Given the description of an element on the screen output the (x, y) to click on. 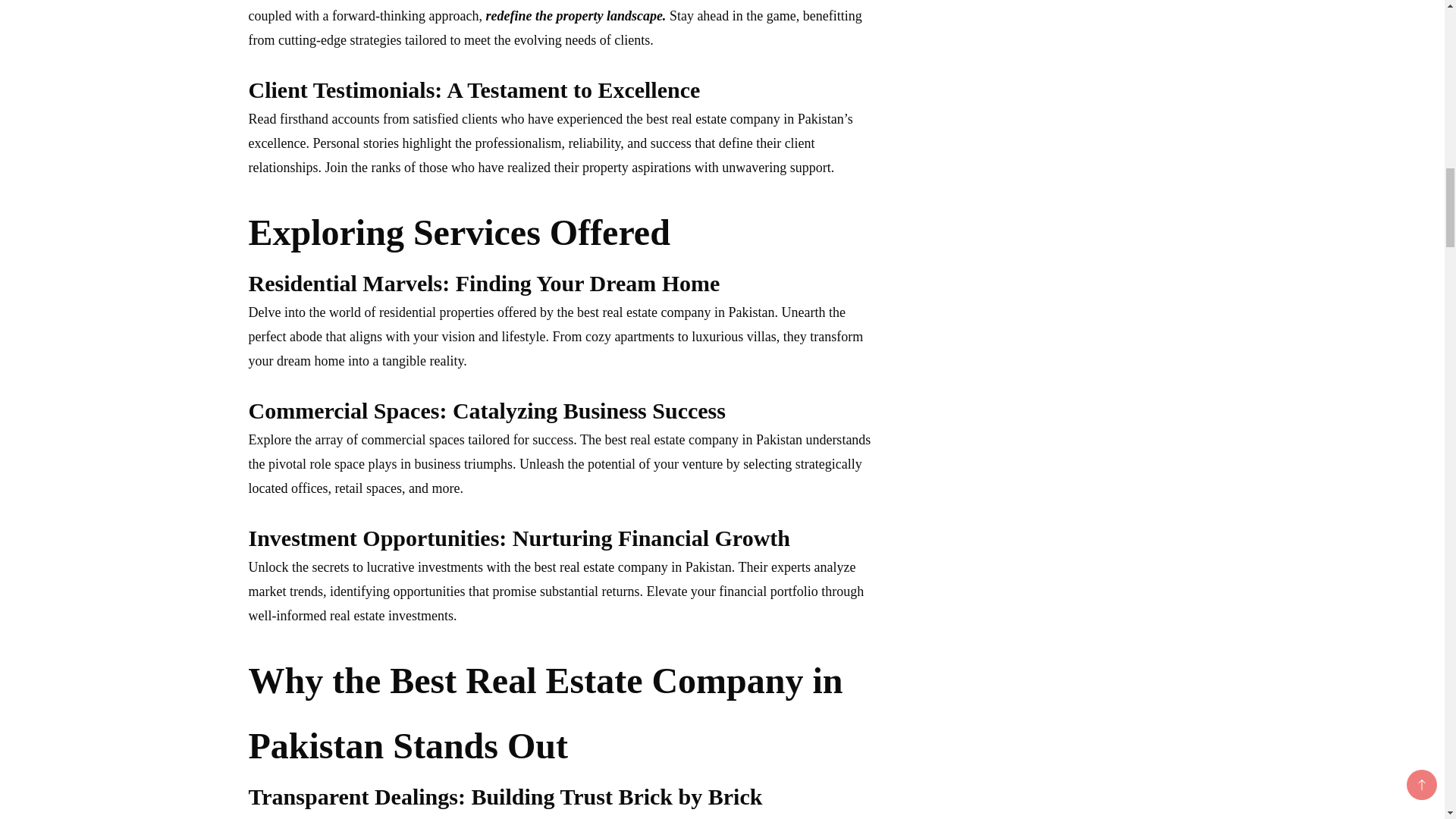
redefine the property landscape. (574, 15)
